Given the description of an element on the screen output the (x, y) to click on. 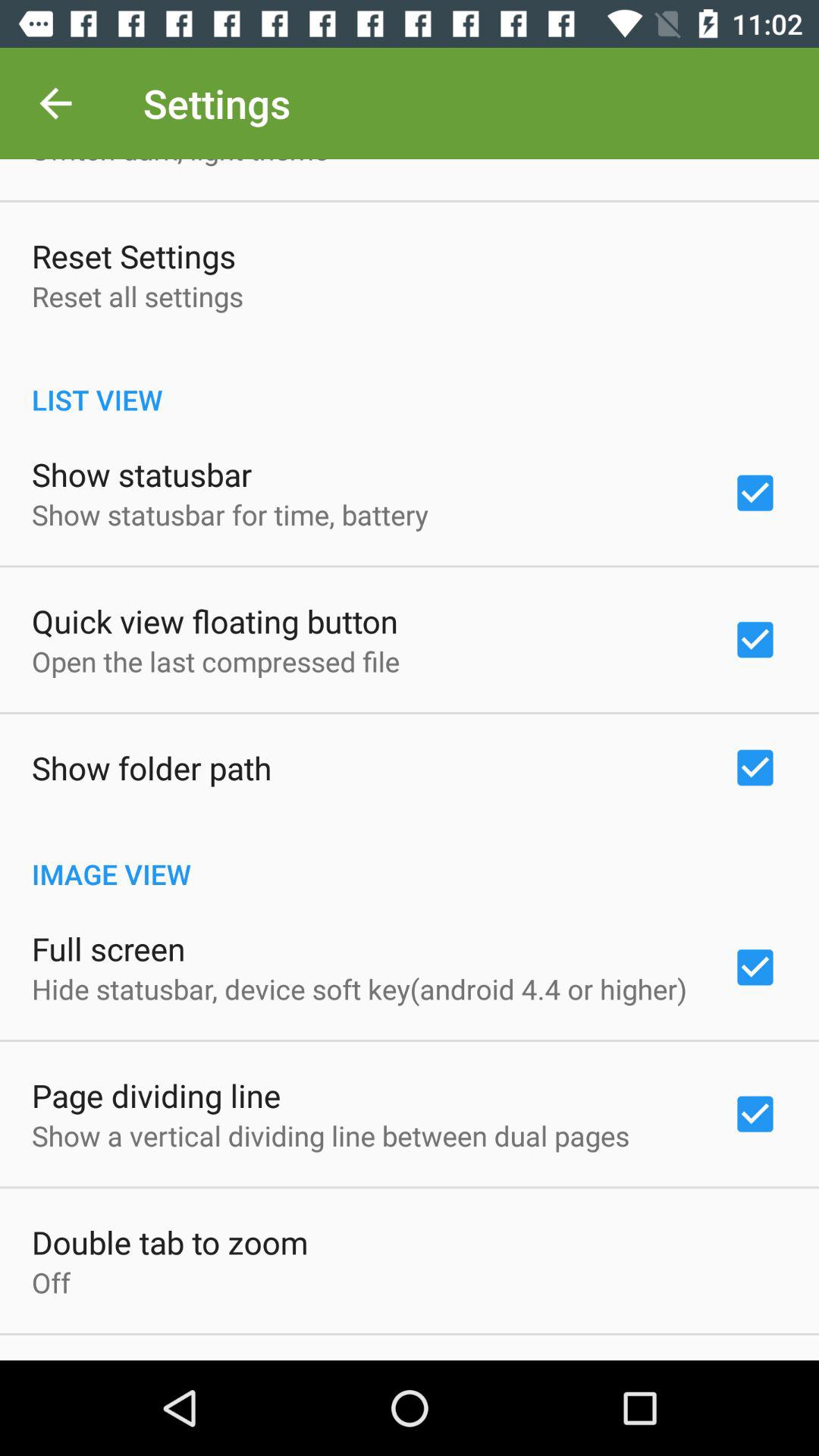
turn on the icon to the left of settings item (55, 103)
